Given the description of an element on the screen output the (x, y) to click on. 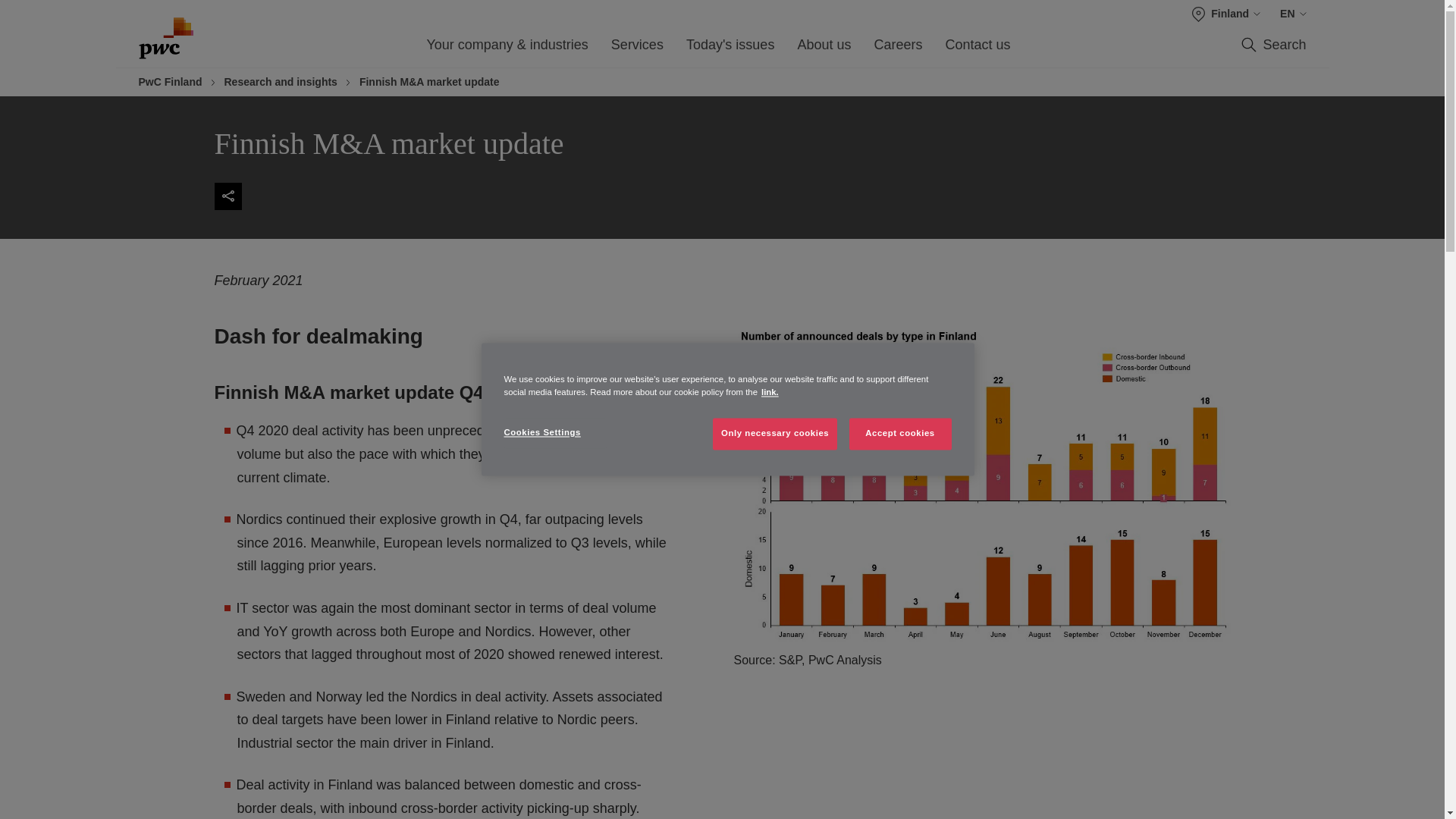
About us (823, 49)
Today's issues (729, 49)
Services (637, 49)
Finland (1226, 13)
Careers (897, 49)
Contact us (977, 49)
